Given the description of an element on the screen output the (x, y) to click on. 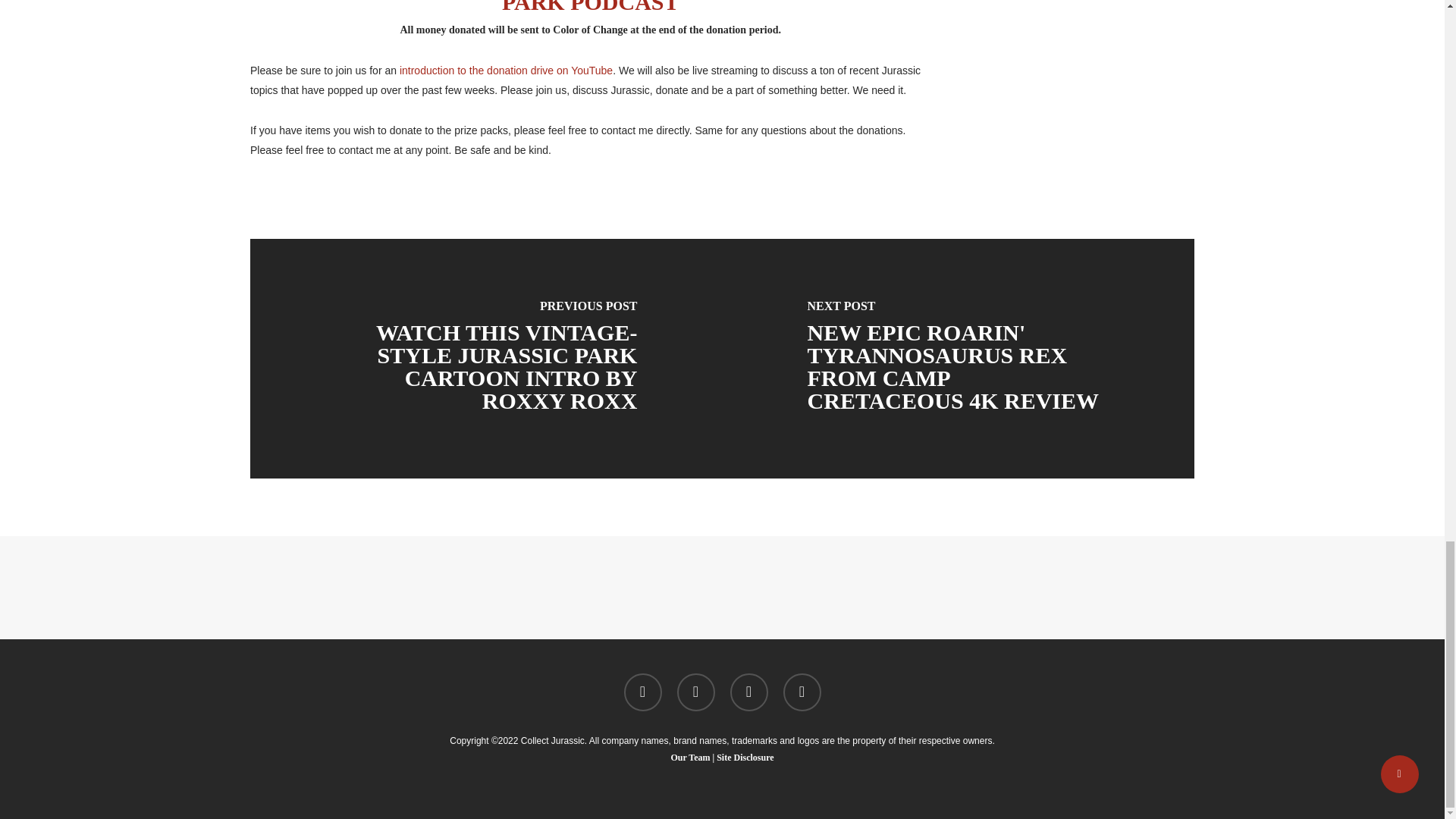
DONATE NOW VIA JURASSIC PARK PODCAST (707, 7)
introduction to the donation drive on YouTube (505, 70)
facebook (695, 692)
youtube (748, 692)
twitter (642, 692)
